Given the description of an element on the screen output the (x, y) to click on. 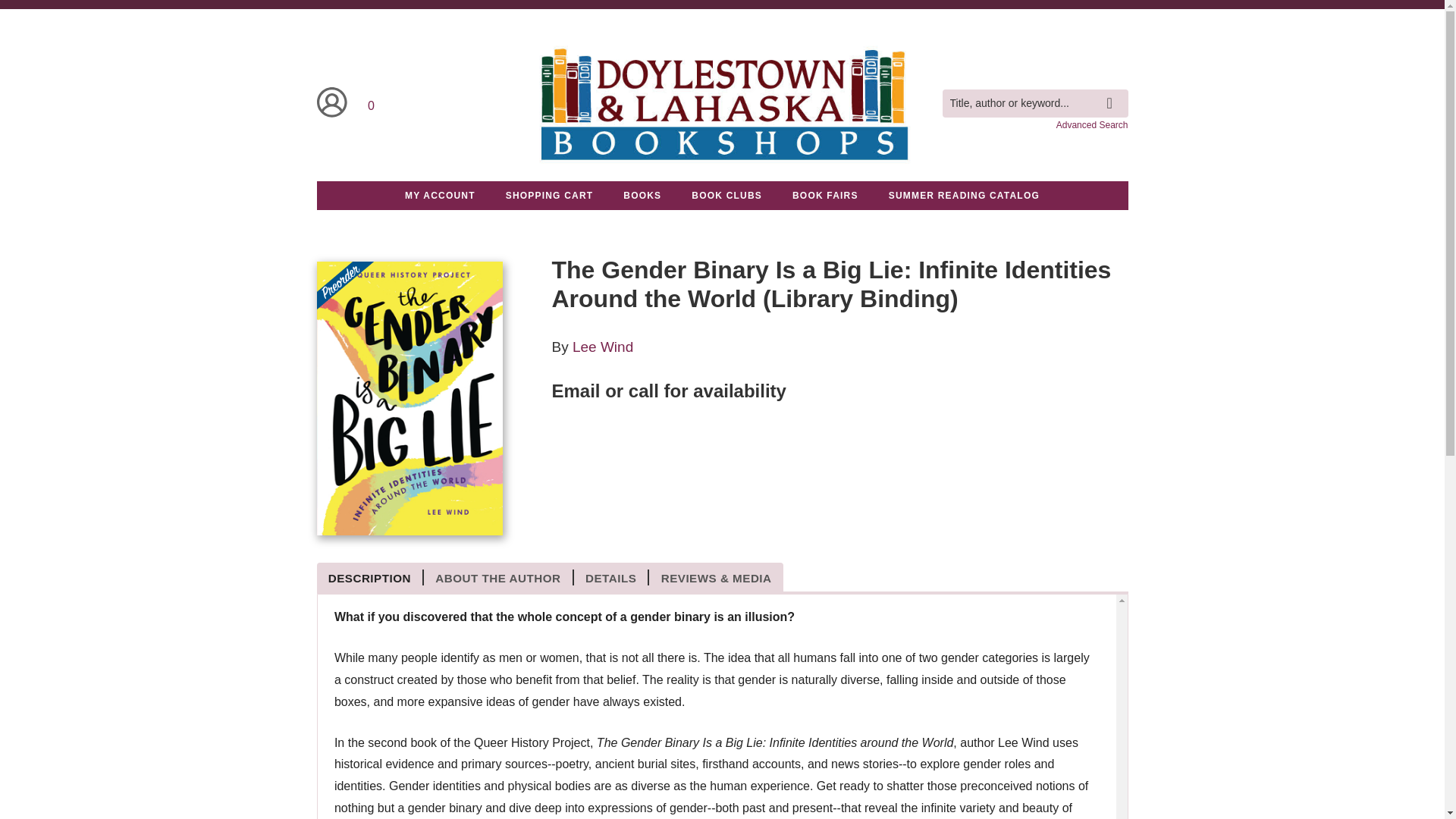
search (1112, 92)
DESCRIPTION (371, 577)
SUMMER READING CATALOG (963, 194)
BOOKS (642, 194)
Home (721, 103)
SHOPPING CART (549, 194)
search (1112, 92)
Title, author or keyword... (1034, 103)
DETAILS (611, 577)
MY ACCOUNT (440, 194)
BOOK CLUBS (727, 194)
BOOK FAIRS (825, 194)
Lee Wind (602, 346)
Advanced Search (1092, 124)
